Given the description of an element on the screen output the (x, y) to click on. 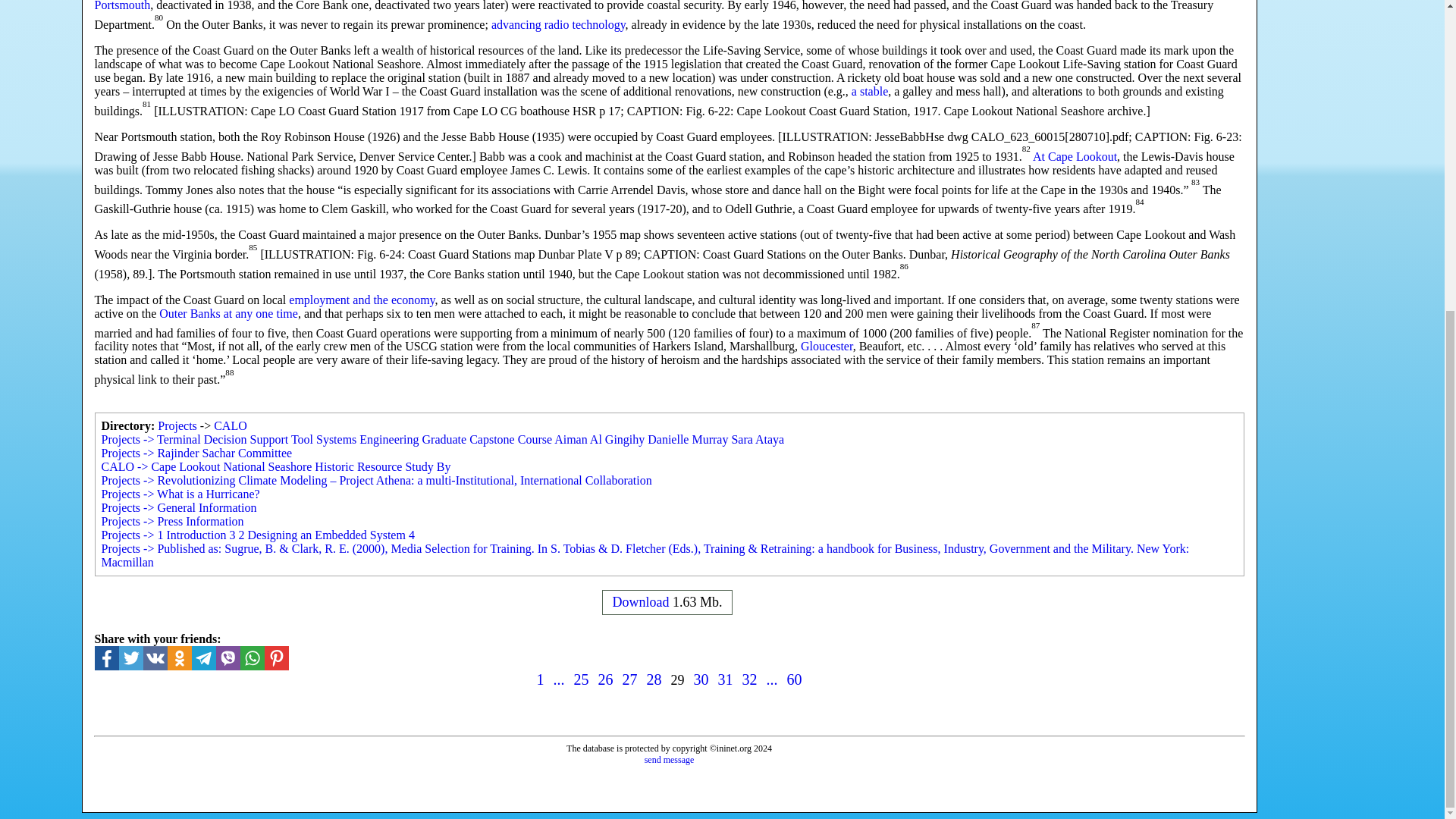
CALO (230, 425)
Advertisement (1352, 9)
Gloucester (826, 345)
At Cape Lookout (1074, 155)
employment and the economy (360, 299)
a stable (869, 91)
advancing radio technology (559, 24)
Projects (176, 425)
Outer Banks at any one time (228, 313)
